Given the description of an element on the screen output the (x, y) to click on. 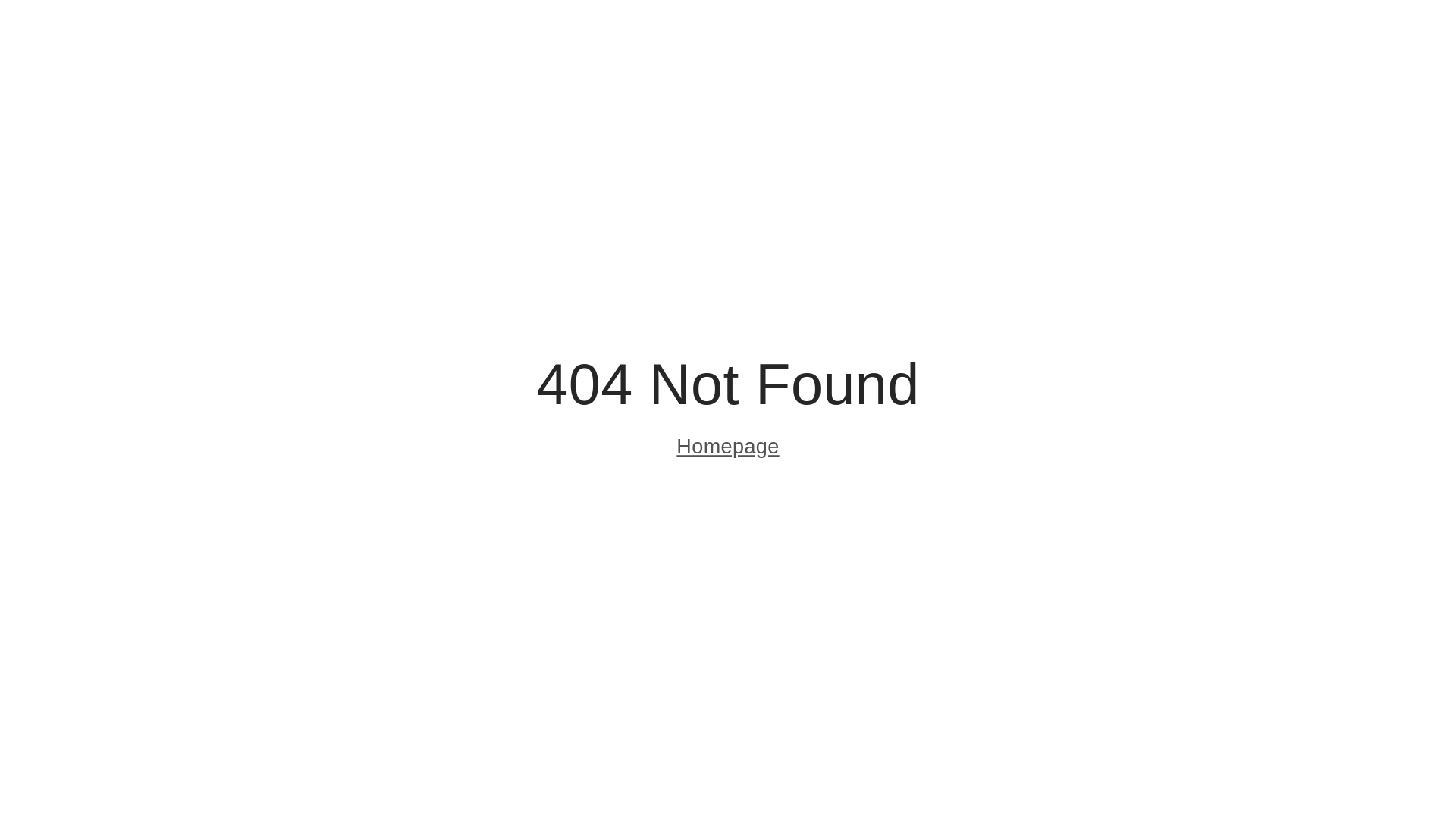
Homepage Element type: text (727, 448)
